Given the description of an element on the screen output the (x, y) to click on. 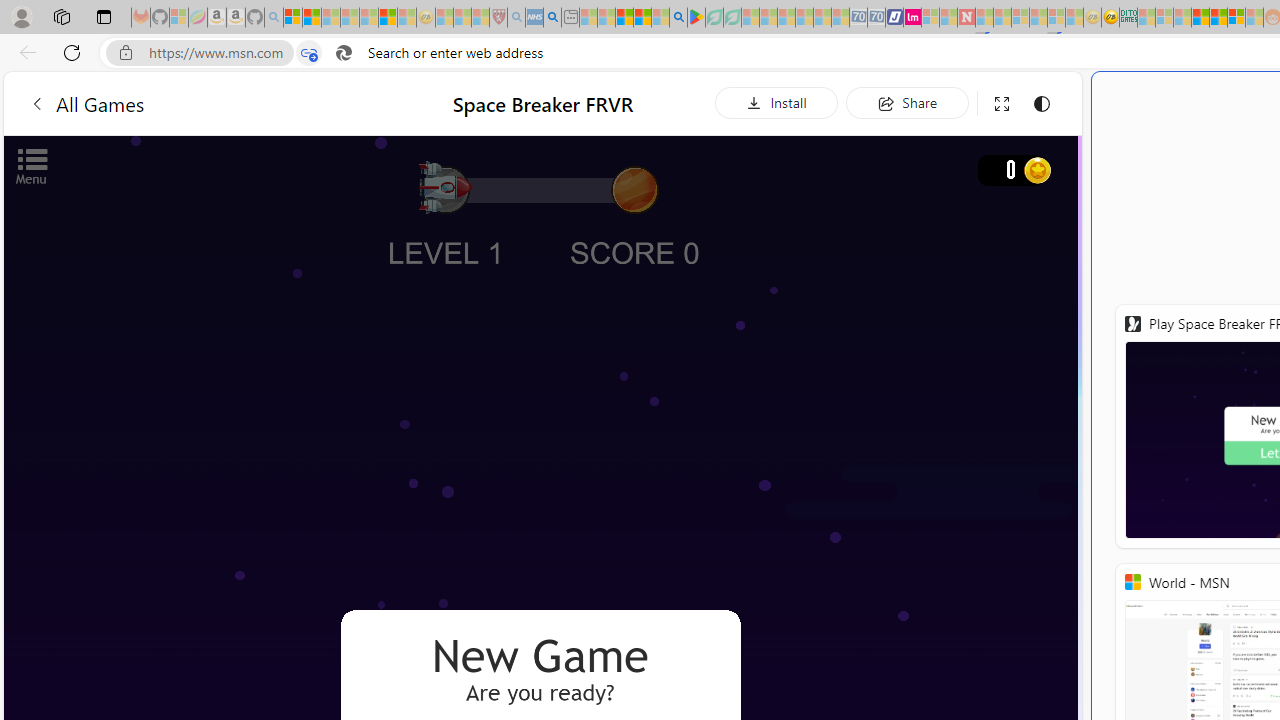
Local - MSN - Sleeping (480, 17)
Jobs - lastminute.com Investor Portal (912, 17)
utah sues federal government - Search (552, 17)
Expert Portfolios (1200, 17)
All Games (86, 102)
